Given the description of an element on the screen output the (x, y) to click on. 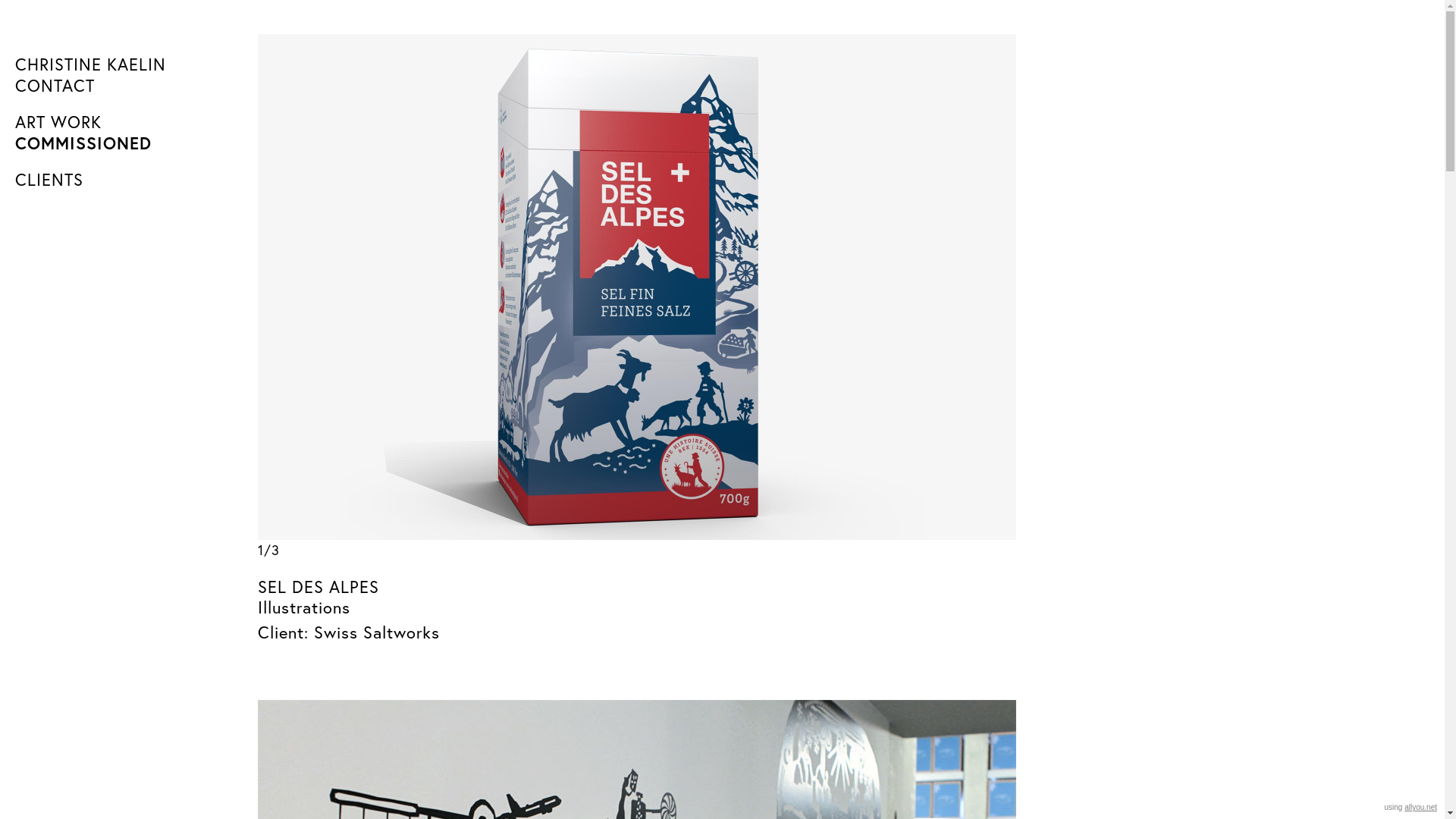
CHRISTINE KAELIN Element type: text (128, 64)
ART WORK Element type: text (128, 121)
CLIENTS Element type: text (128, 179)
CONTACT Element type: text (128, 85)
COMMISSIONED Element type: text (128, 142)
allyou.net Element type: text (1420, 807)
